Given the description of an element on the screen output the (x, y) to click on. 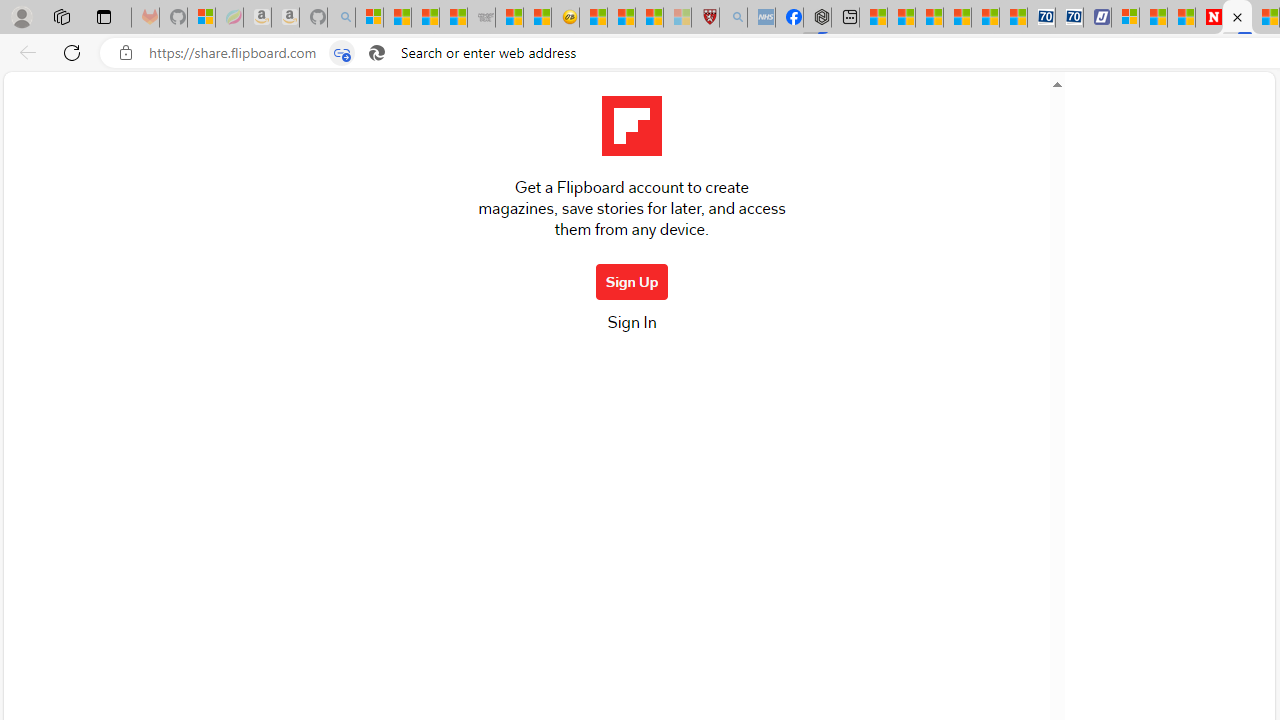
12 Popular Science Lies that Must be Corrected - Sleeping (677, 17)
